Given the description of an element on the screen output the (x, y) to click on. 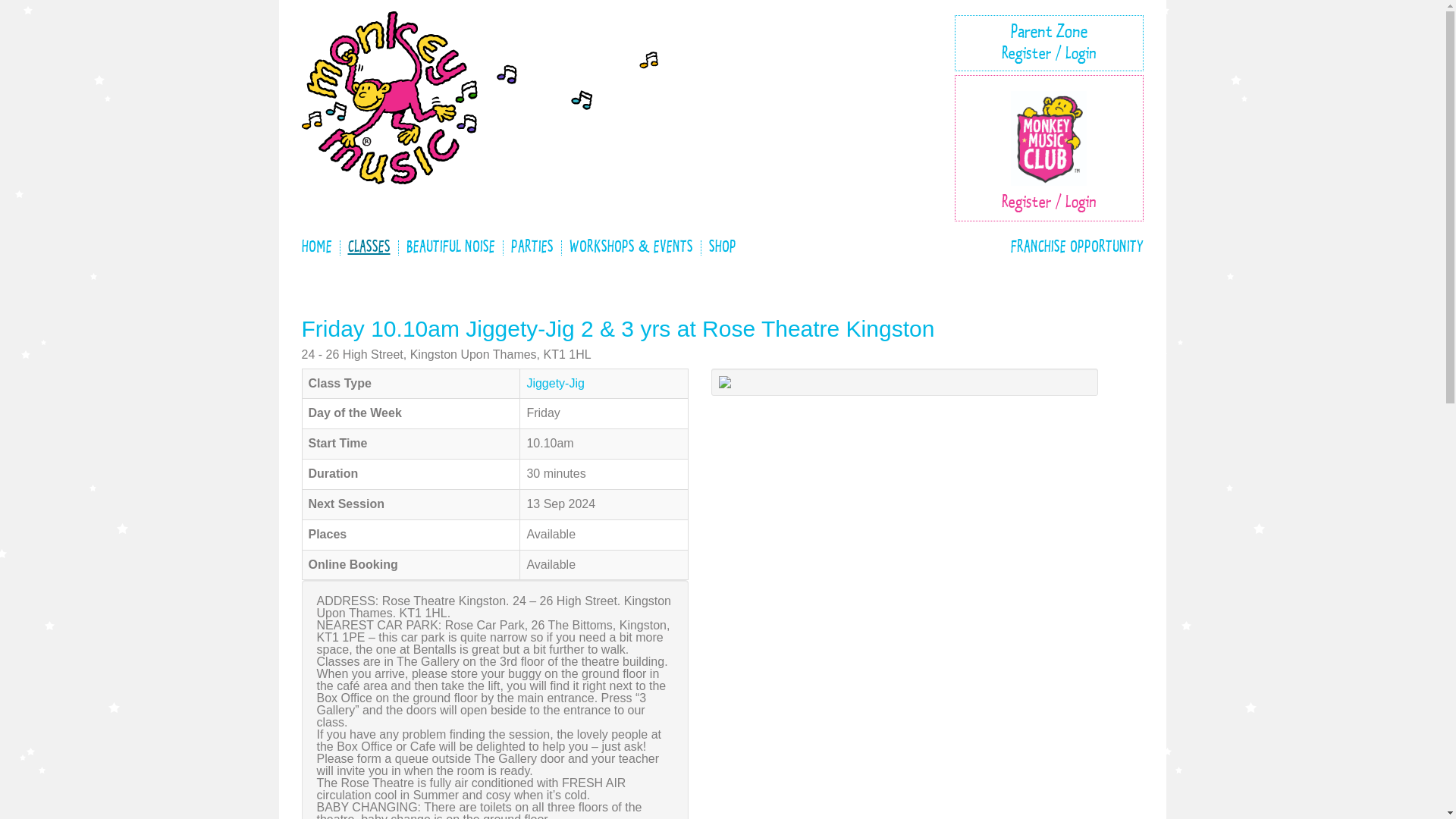
FRANCHISE OPPORTUNITY (1072, 247)
Jiggety-Jig (554, 382)
CLASSES (368, 247)
HOME (320, 247)
Parent Zone (1048, 32)
PARTIES (531, 247)
BEAUTIFUL NOISE (450, 247)
SHOP (721, 247)
